Given the description of an element on the screen output the (x, y) to click on. 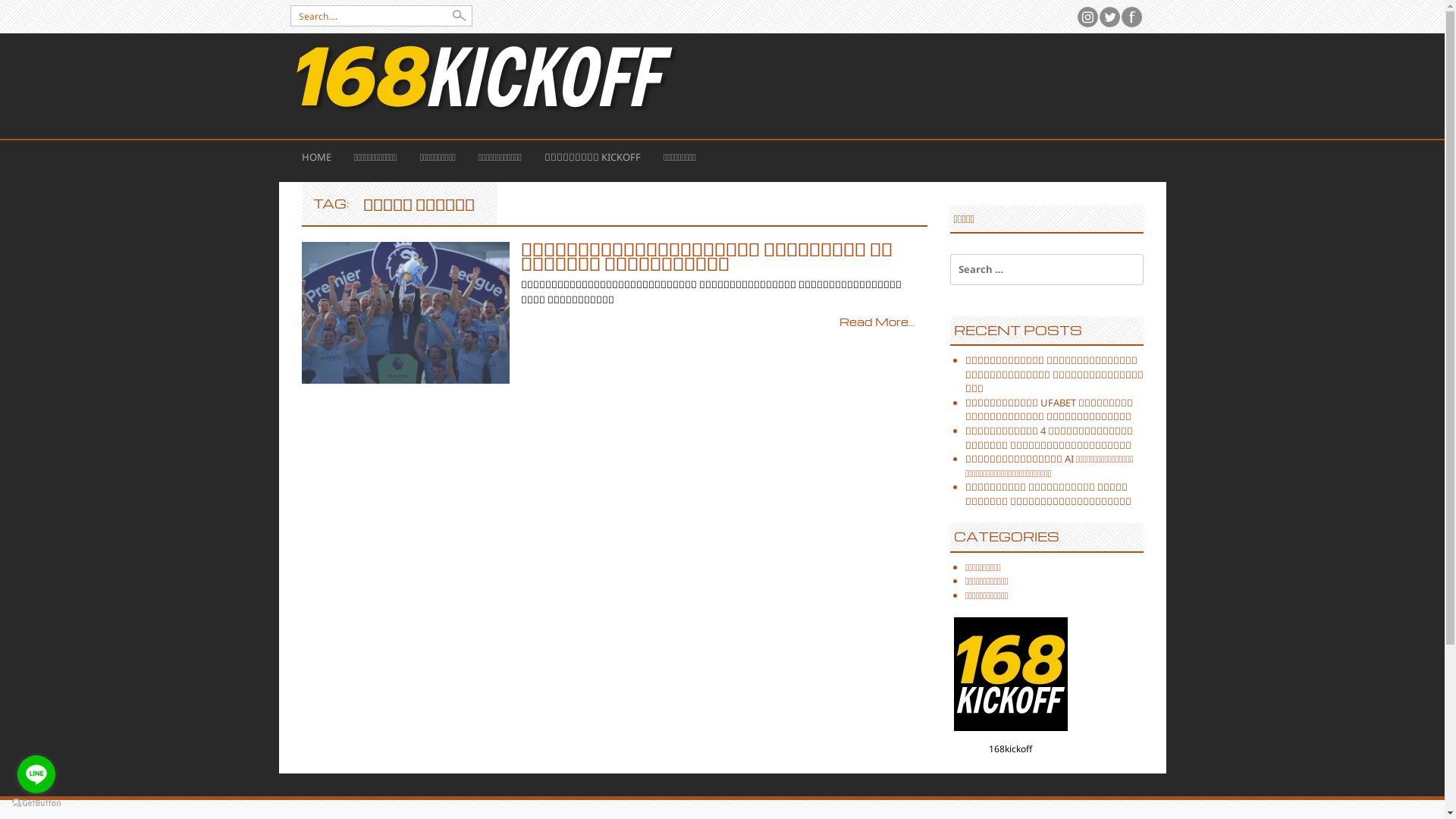
Search Element type: text (24, 9)
HOME Element type: text (315, 157)
Read More... Element type: text (877, 321)
